Given the description of an element on the screen output the (x, y) to click on. 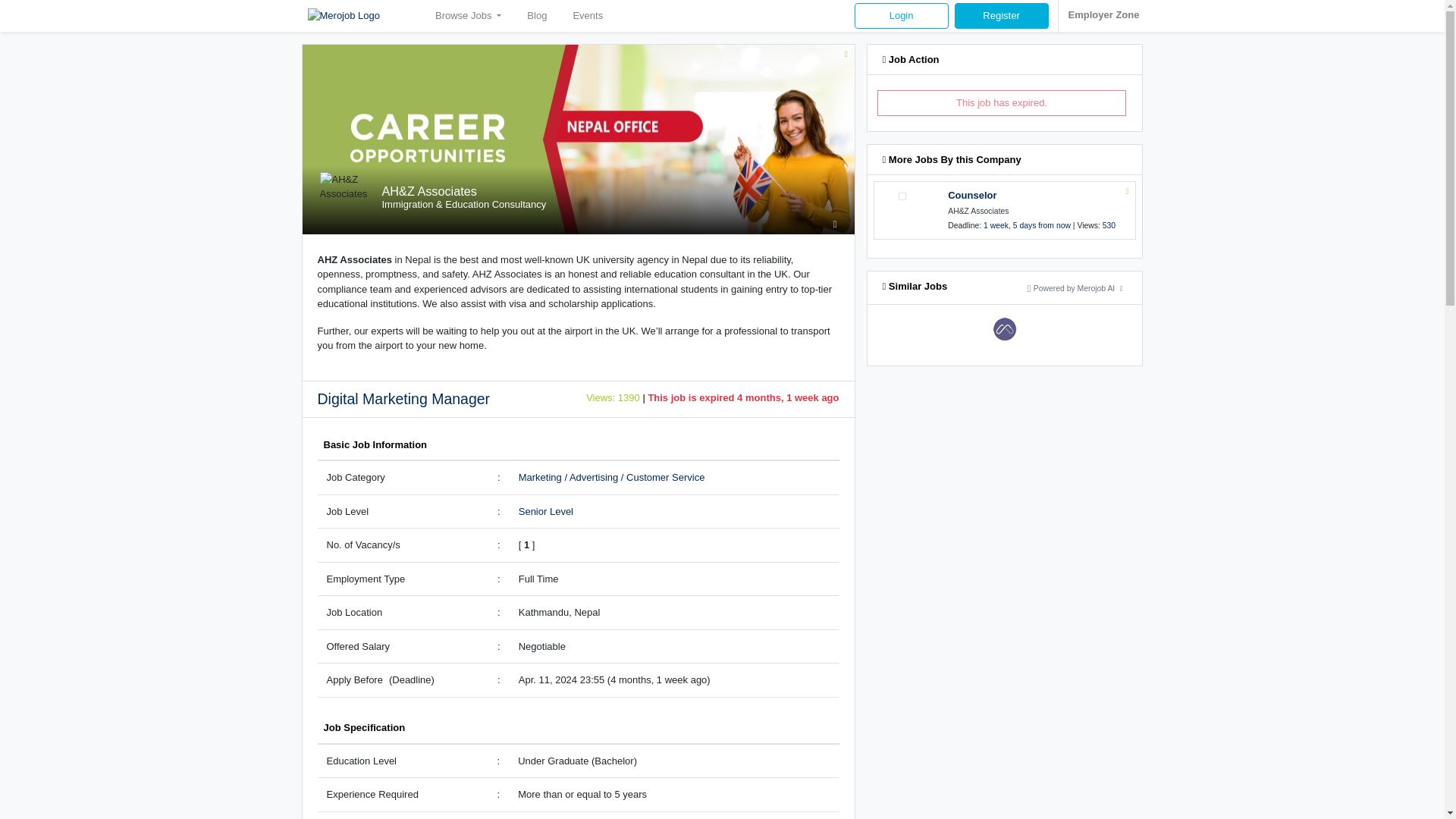
Events (588, 15)
Blog (536, 15)
Employer Zone (1103, 14)
Register (1001, 15)
Browse Jobs (467, 15)
Login (901, 15)
